Given the description of an element on the screen output the (x, y) to click on. 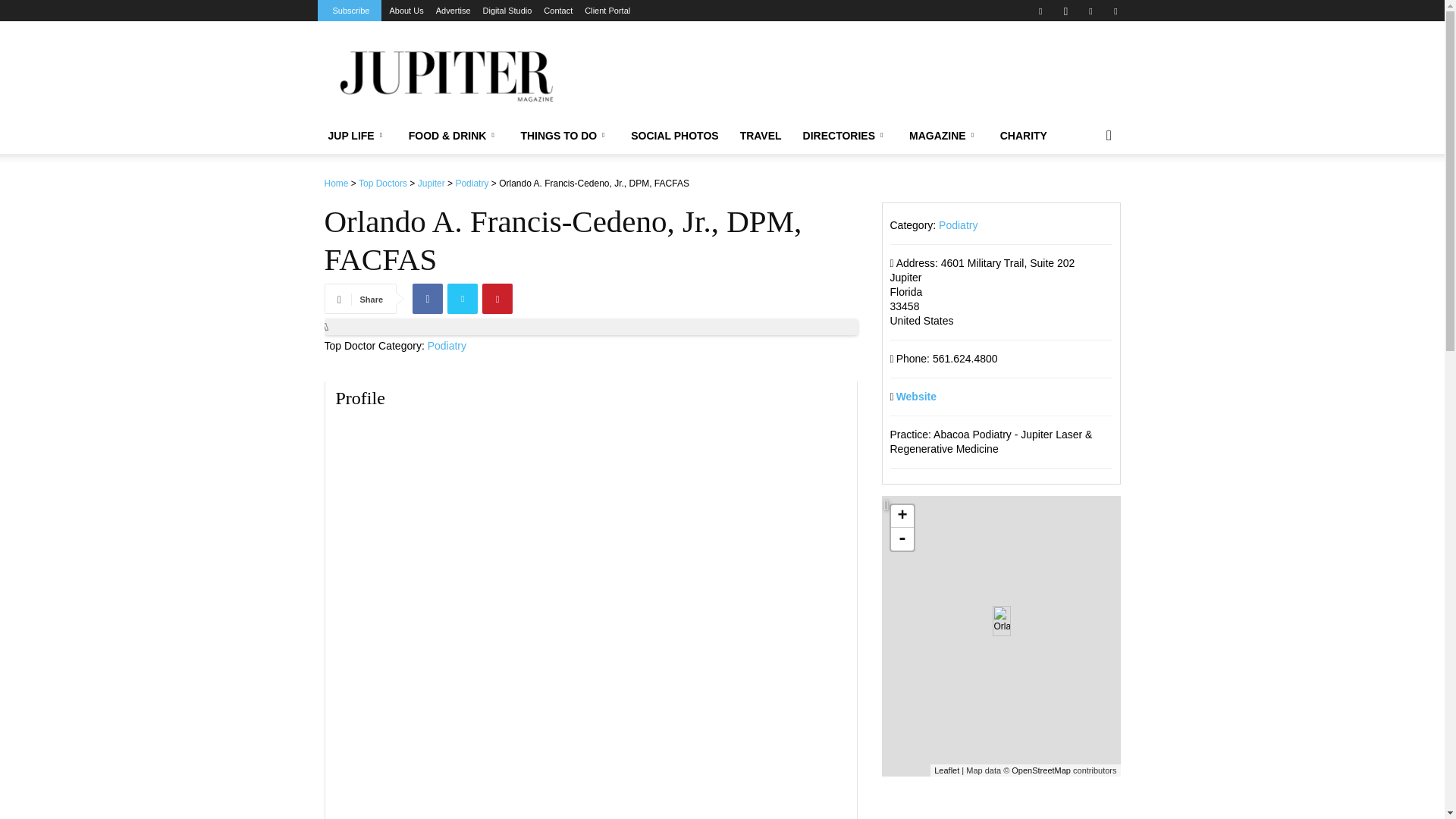
Instagram (1065, 10)
Pinterest (1090, 10)
About Us (405, 10)
Digital Studio (507, 10)
Advertise (452, 10)
Subscribe (350, 10)
Twitter (1114, 10)
Facebook (1040, 10)
